Given the description of an element on the screen output the (x, y) to click on. 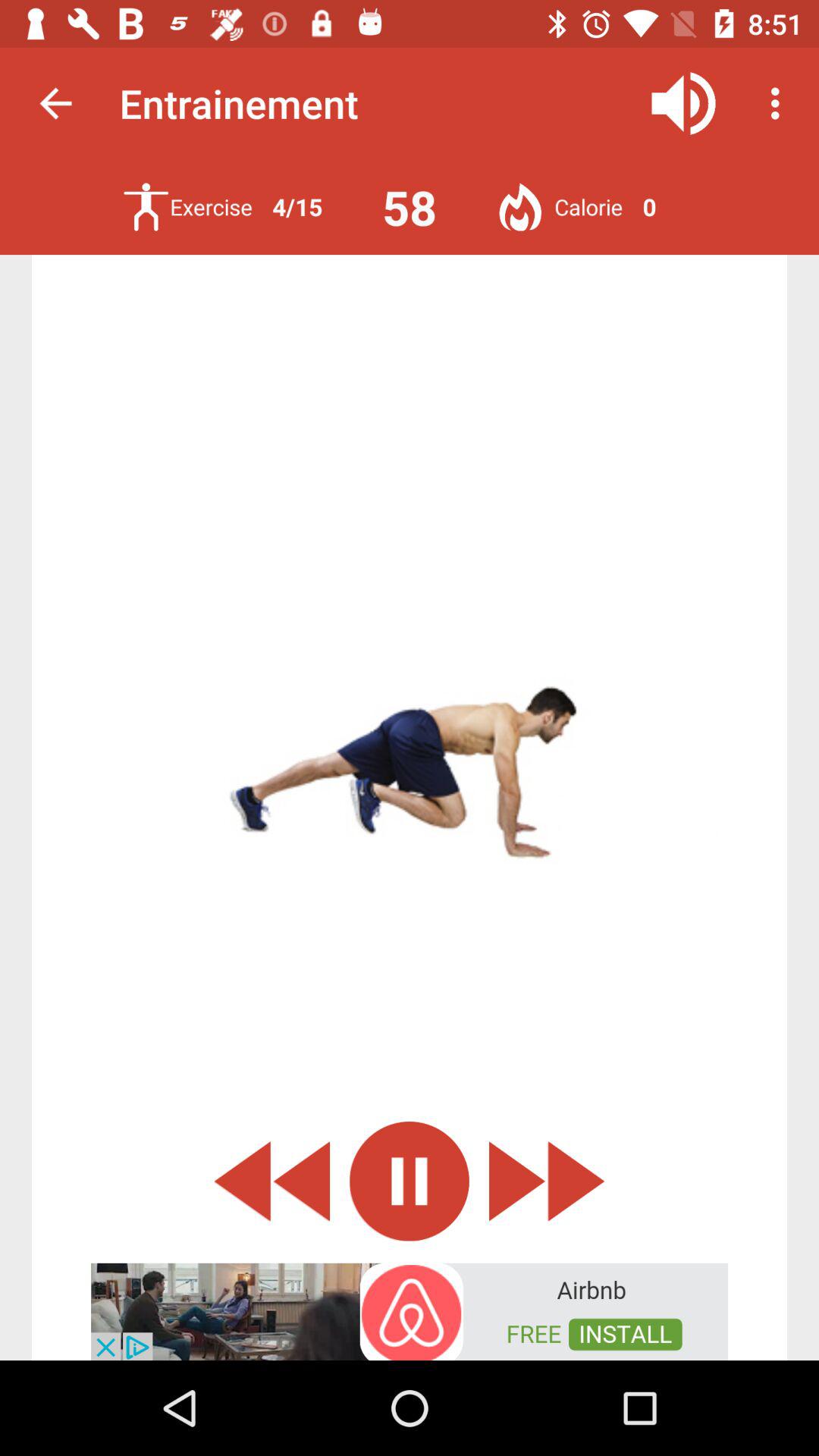
sound on (683, 103)
